Given the description of an element on the screen output the (x, y) to click on. 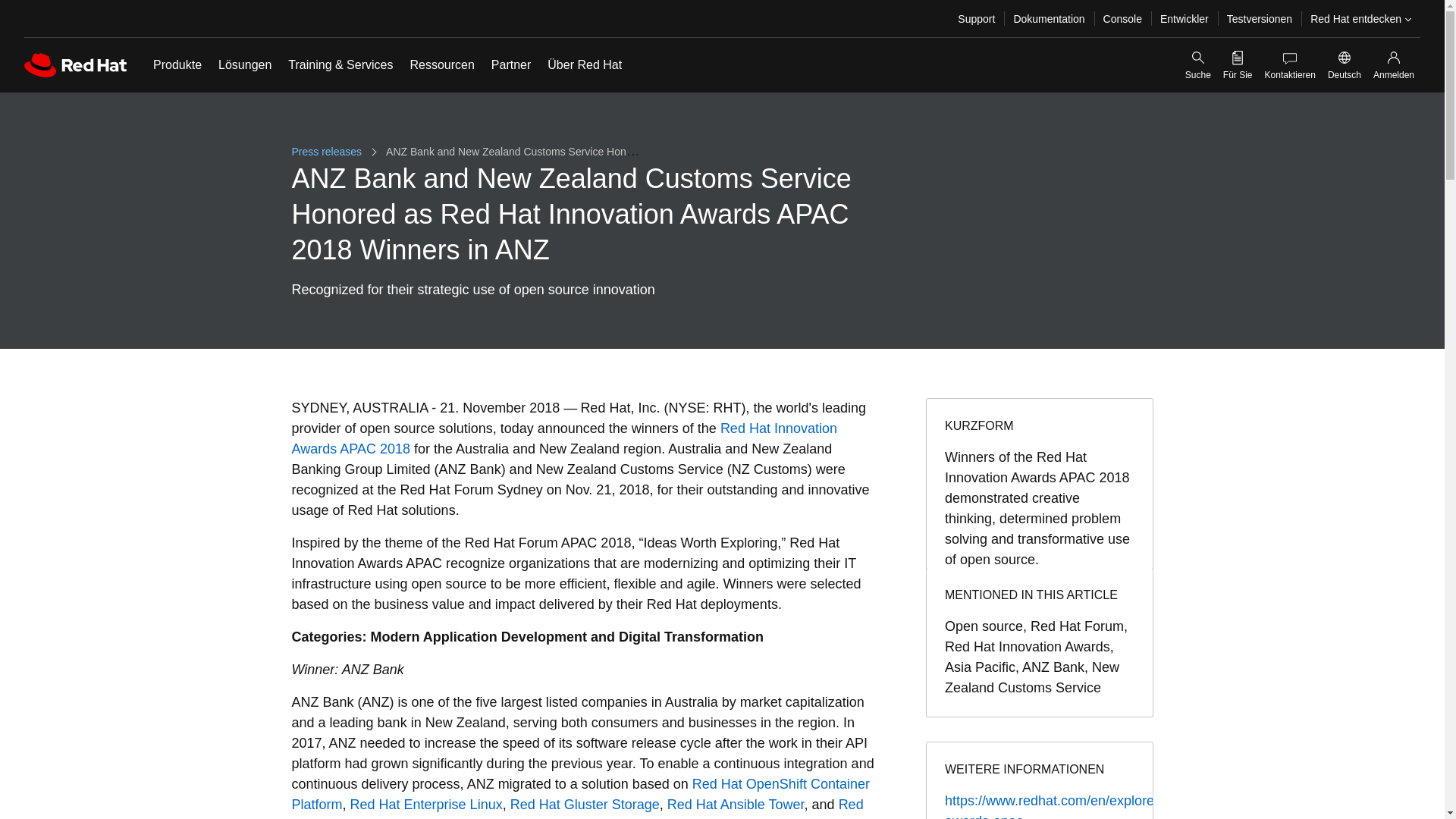
Support (976, 18)
Red Hat entdecken (1361, 18)
press releases (327, 151)
Dokumentation (1048, 18)
Entwickler (1184, 18)
Testversionen (1259, 18)
Console (1122, 18)
